Given the description of an element on the screen output the (x, y) to click on. 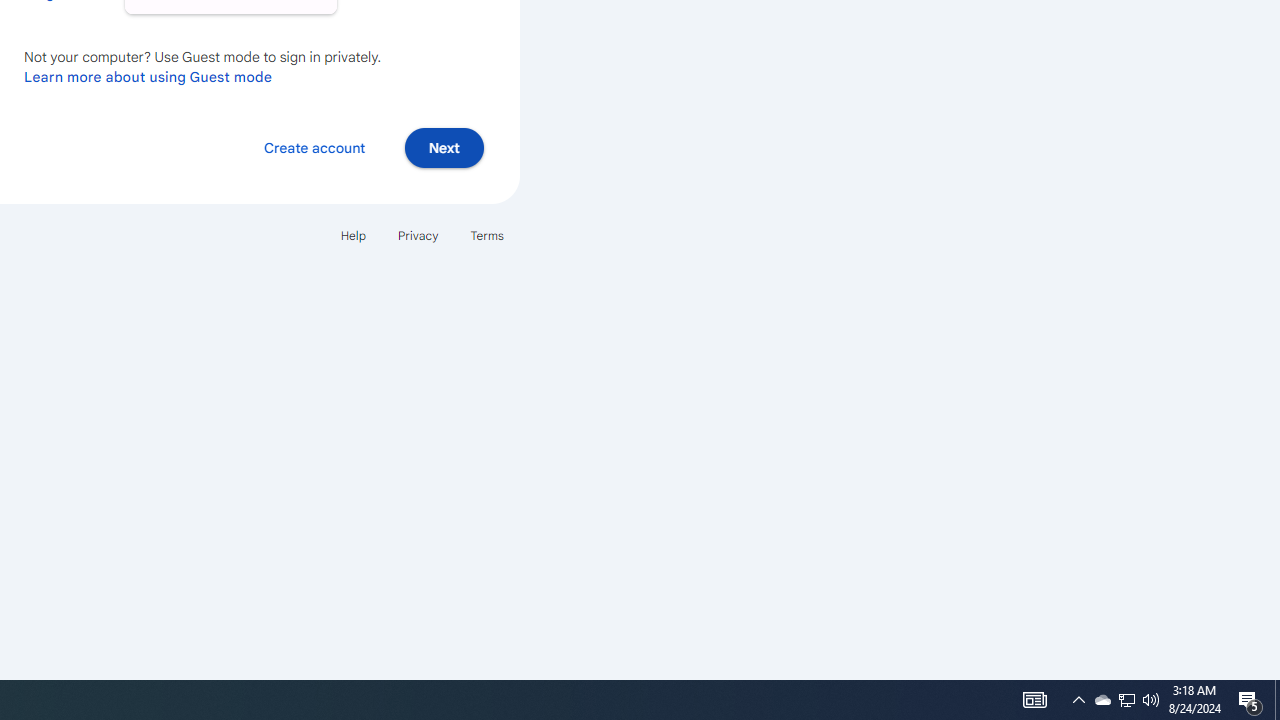
Learn more about using Guest mode (148, 76)
Privacy (417, 234)
Next (443, 146)
Help (352, 234)
Create account (314, 146)
Terms (486, 234)
